Given the description of an element on the screen output the (x, y) to click on. 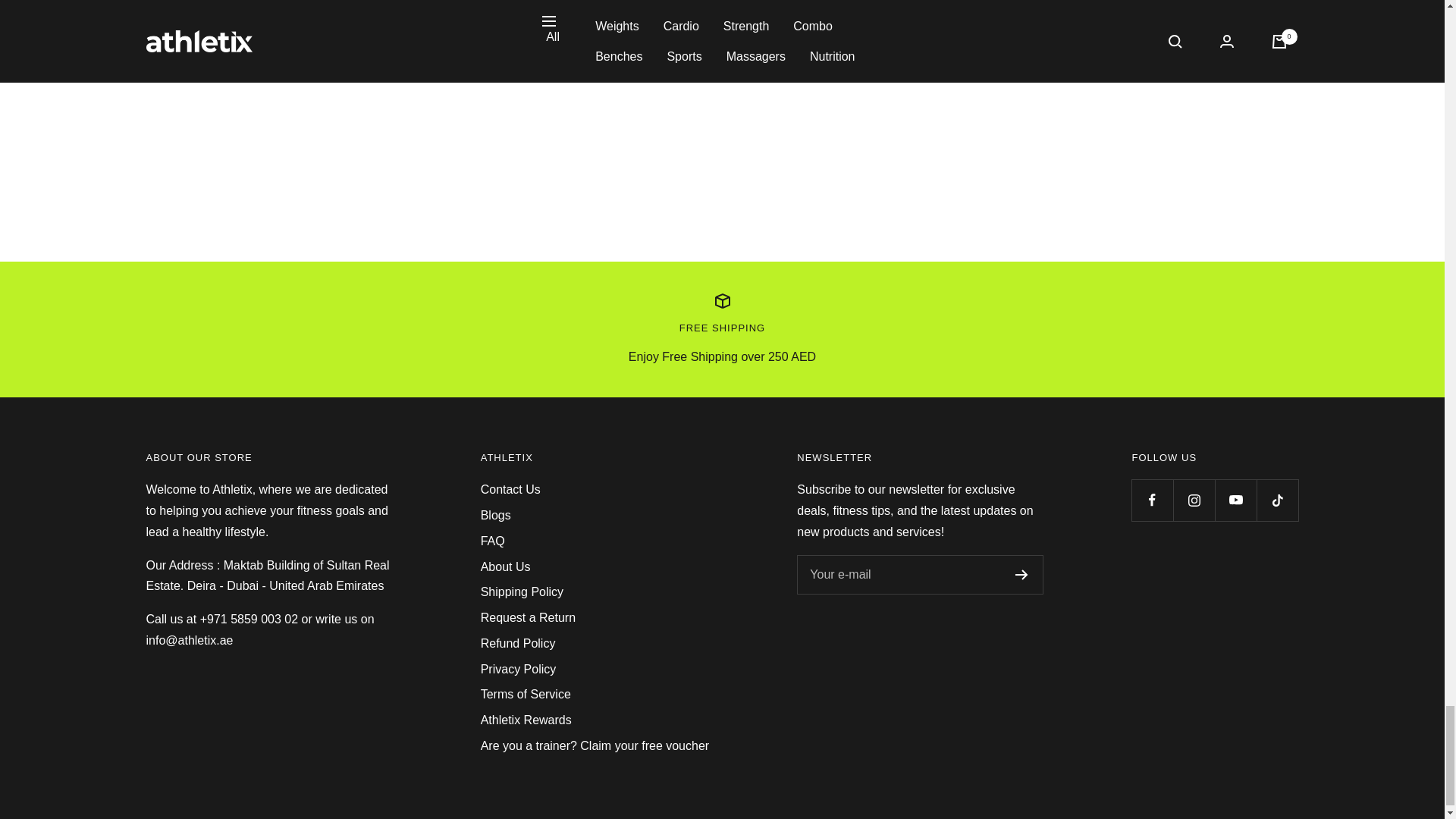
Register (1020, 574)
